Given the description of an element on the screen output the (x, y) to click on. 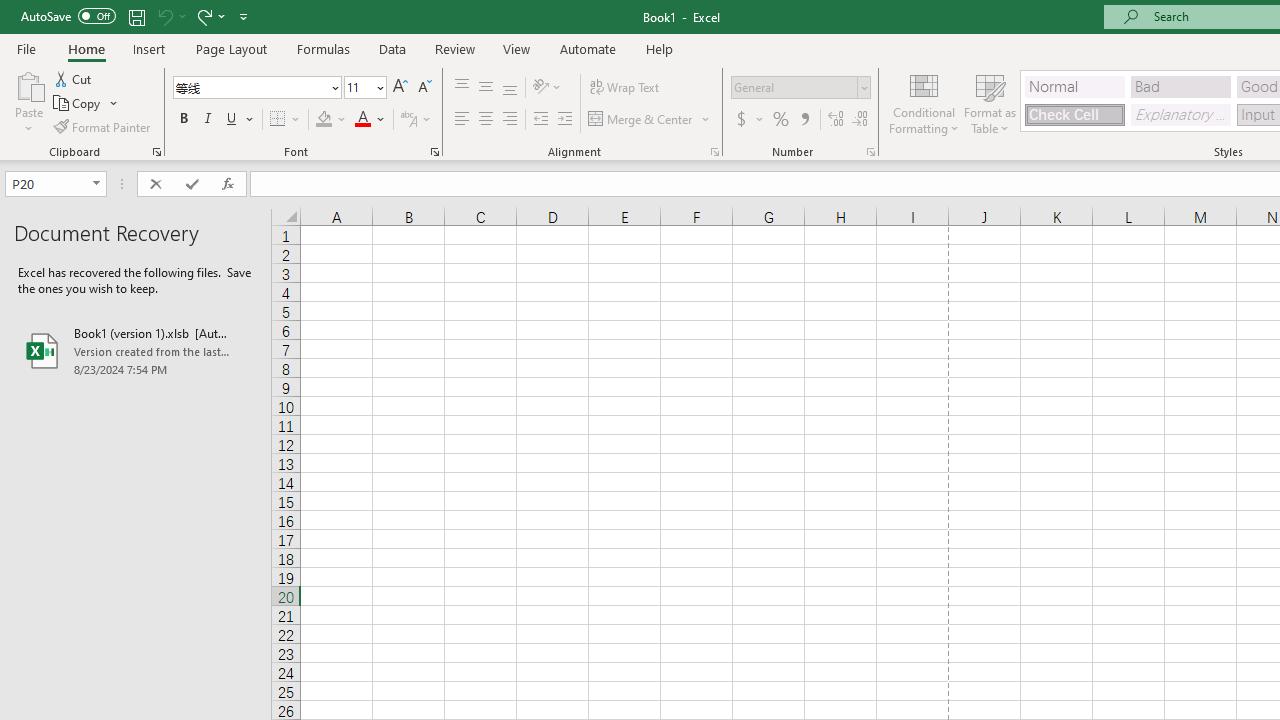
Align Right (509, 119)
Increase Indent (565, 119)
Font (250, 87)
Orientation (547, 87)
Font Size (365, 87)
Font Color RGB(255, 0, 0) (362, 119)
Increase Decimal (836, 119)
Middle Align (485, 87)
